Given the description of an element on the screen output the (x, y) to click on. 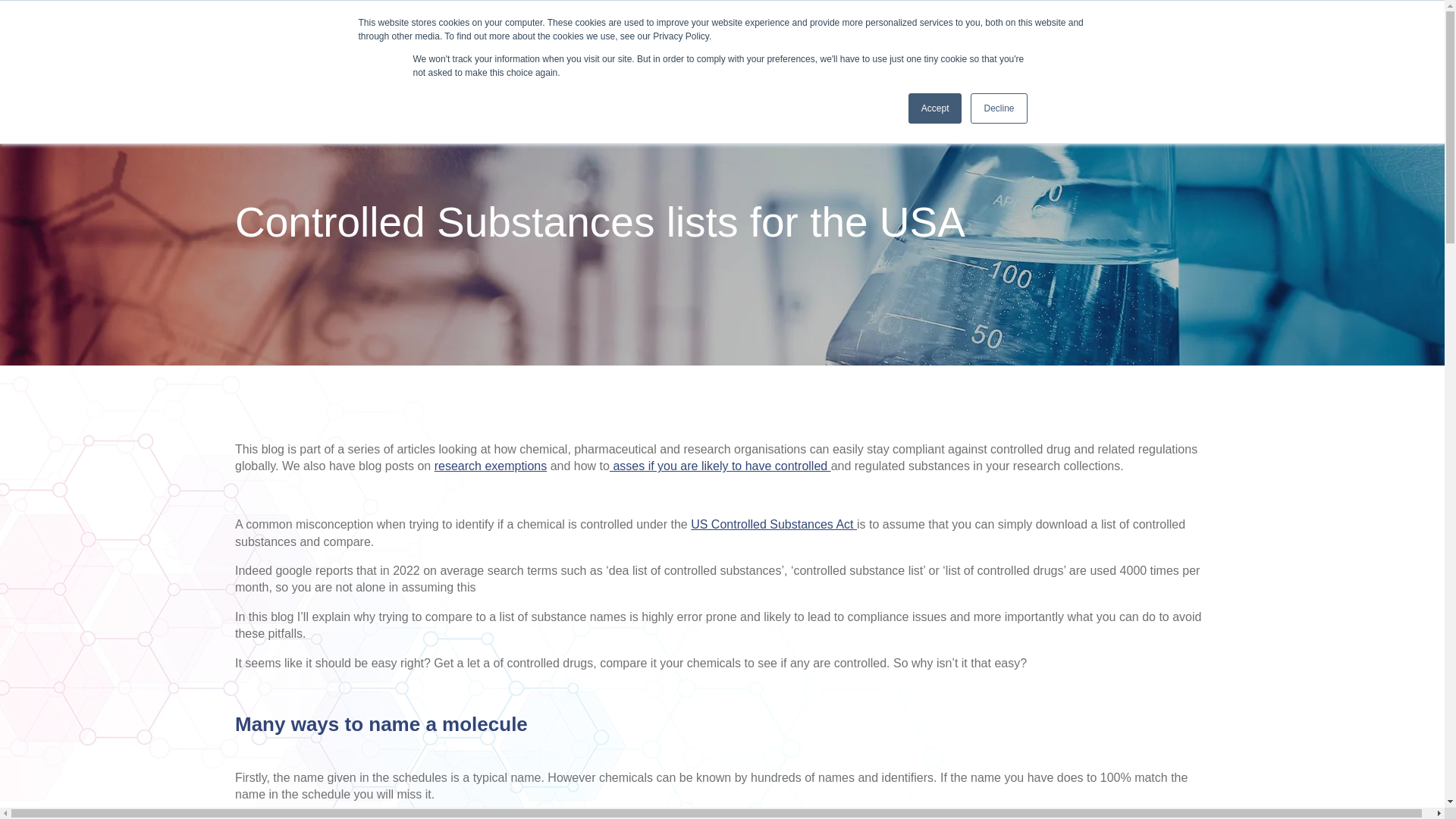
Accept (935, 108)
RESOURCES (908, 44)
NEWS (1045, 44)
US Controlled Substances Act (773, 523)
research exemptions (490, 465)
Decline (998, 108)
asses if you are likely to have controlled (720, 465)
SOLUTIONS (818, 44)
Request Demo (1151, 44)
ABOUT (988, 44)
